Given the description of an element on the screen output the (x, y) to click on. 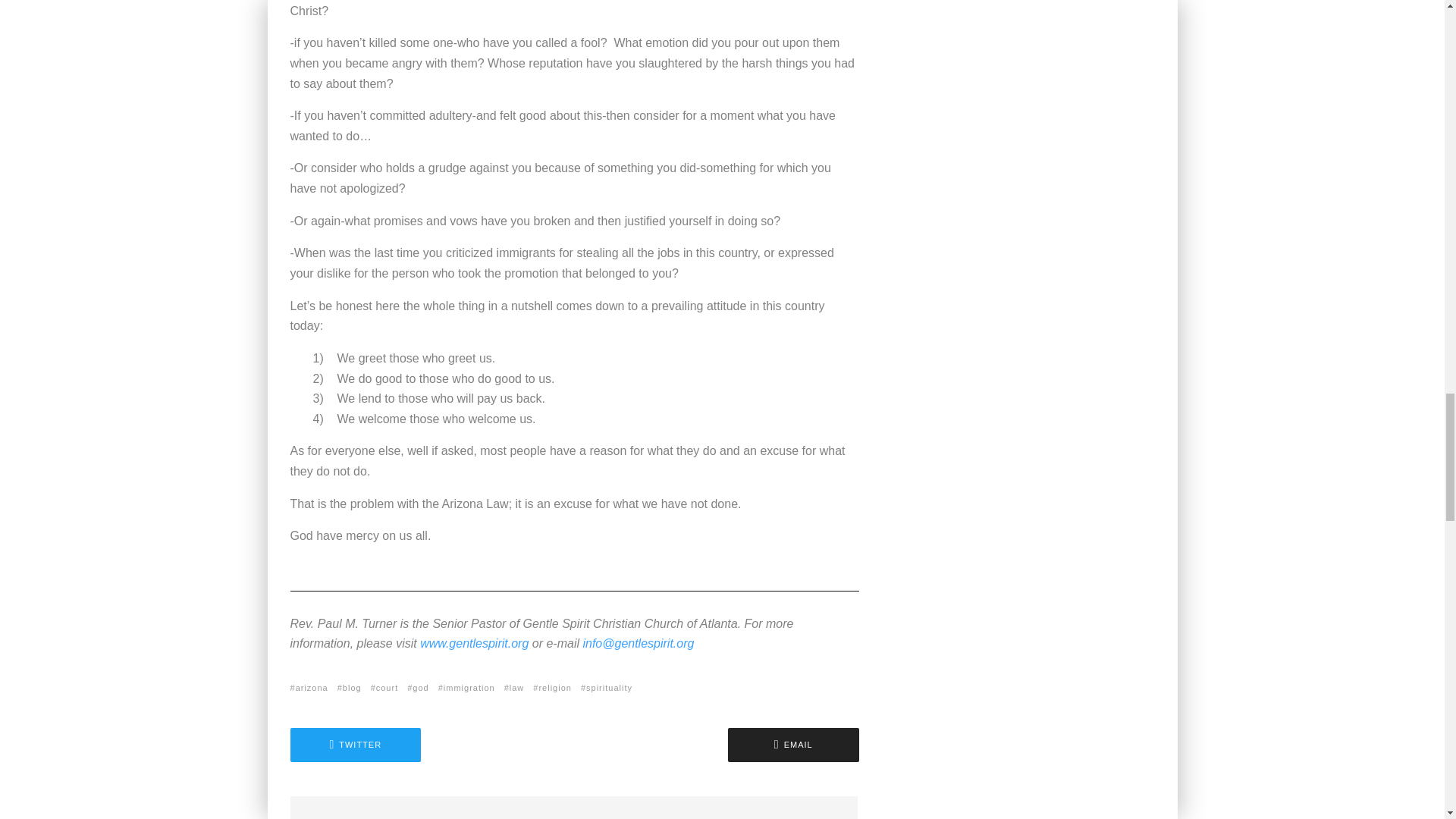
Gentle Spirit Christian church e-mail contact (638, 643)
Gentle Spirit Christian church (474, 643)
